Given the description of an element on the screen output the (x, y) to click on. 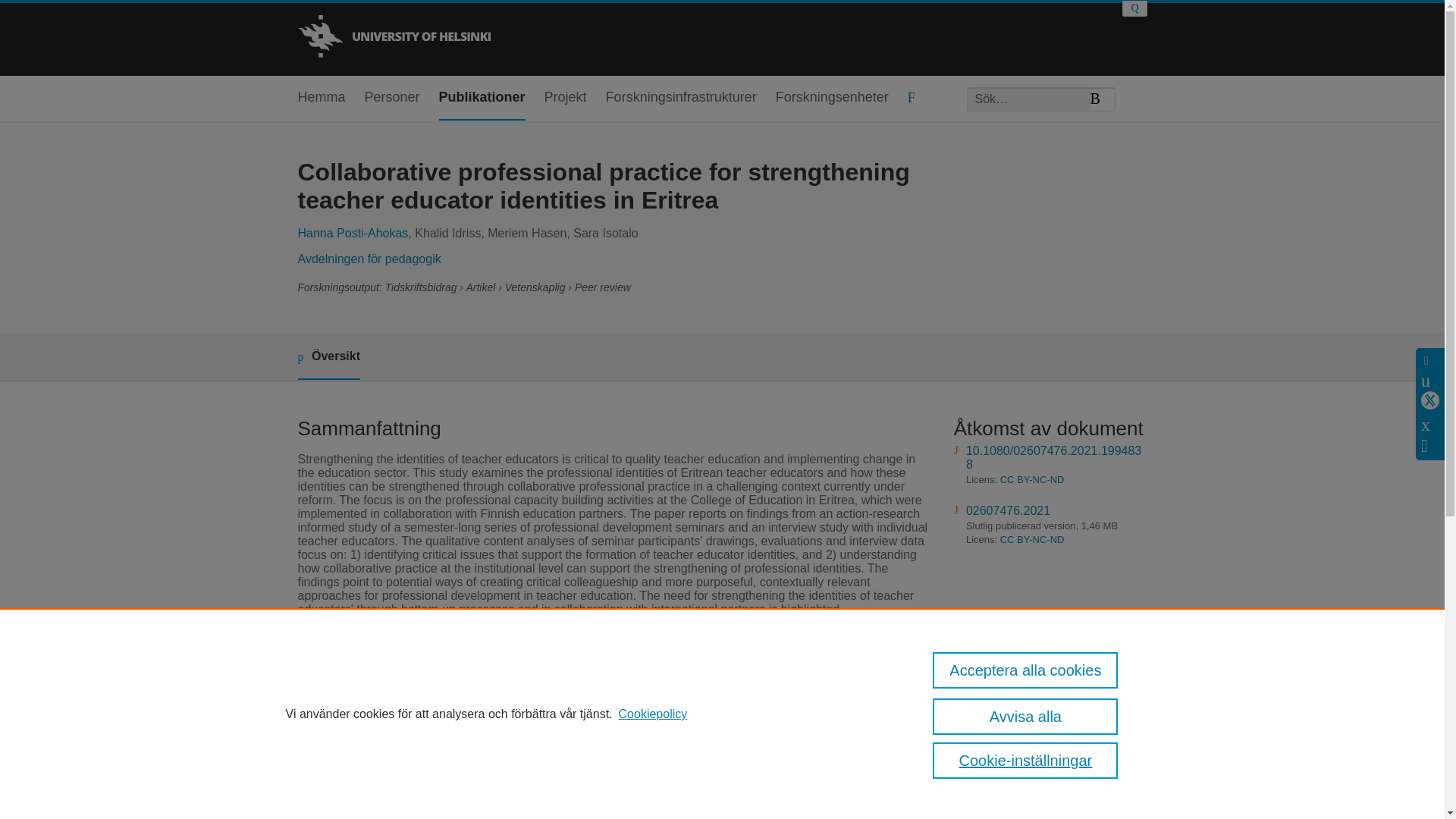
Personer (392, 98)
Forskningsenheter (832, 98)
Journal of Education for Teaching (597, 665)
CC BY-NC-ND (1032, 479)
CC BY-NC-ND (1032, 539)
Hanna Posti-Ahokas (352, 232)
Publikationer (482, 98)
02607476.2021 (1007, 510)
Helsingfors universitet Hemma (393, 37)
Hemma (321, 98)
Projekt (565, 98)
Forskningsinfrastrukturer (681, 98)
